Given the description of an element on the screen output the (x, y) to click on. 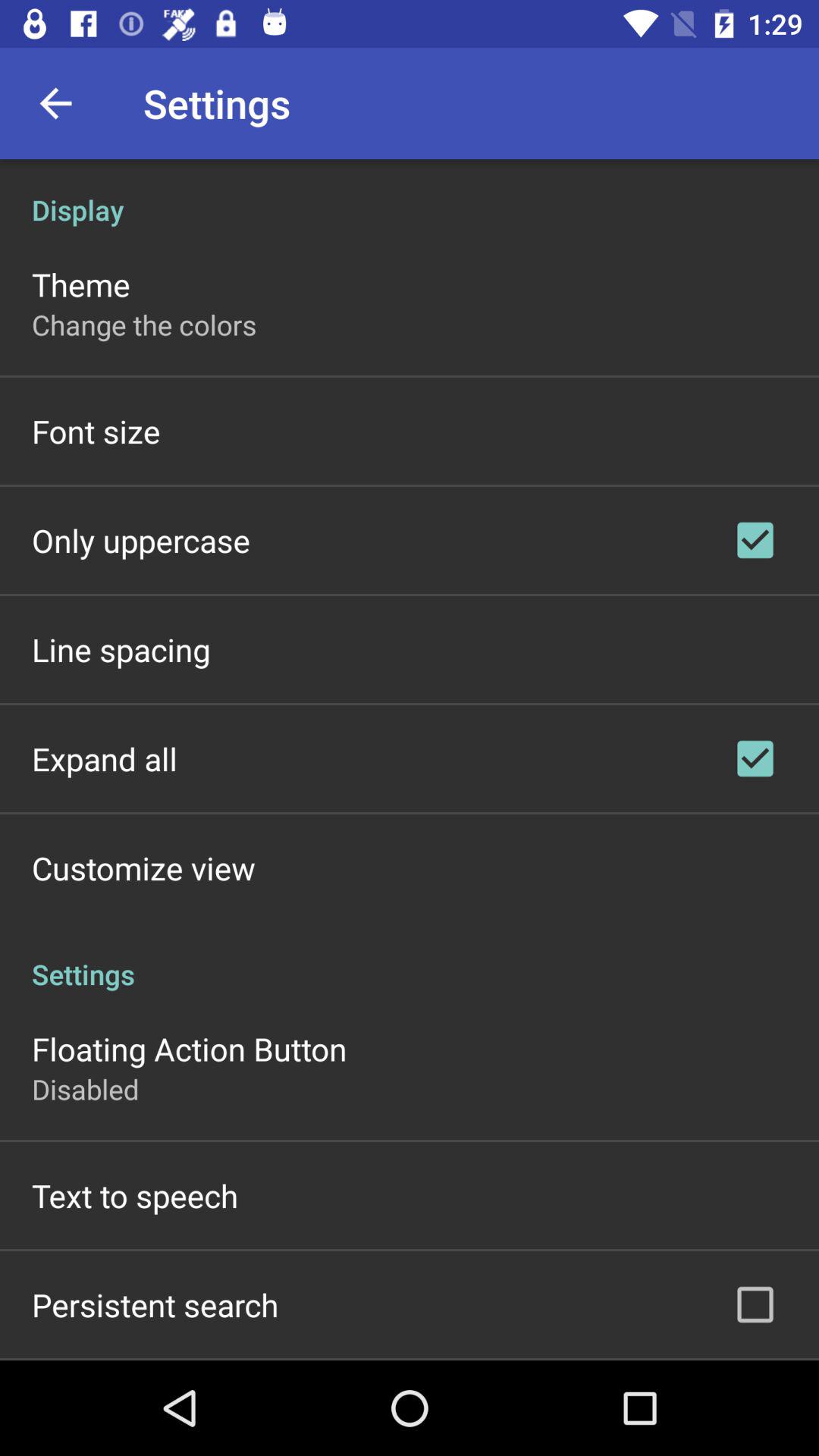
choose the item below disabled (134, 1195)
